Given the description of an element on the screen output the (x, y) to click on. 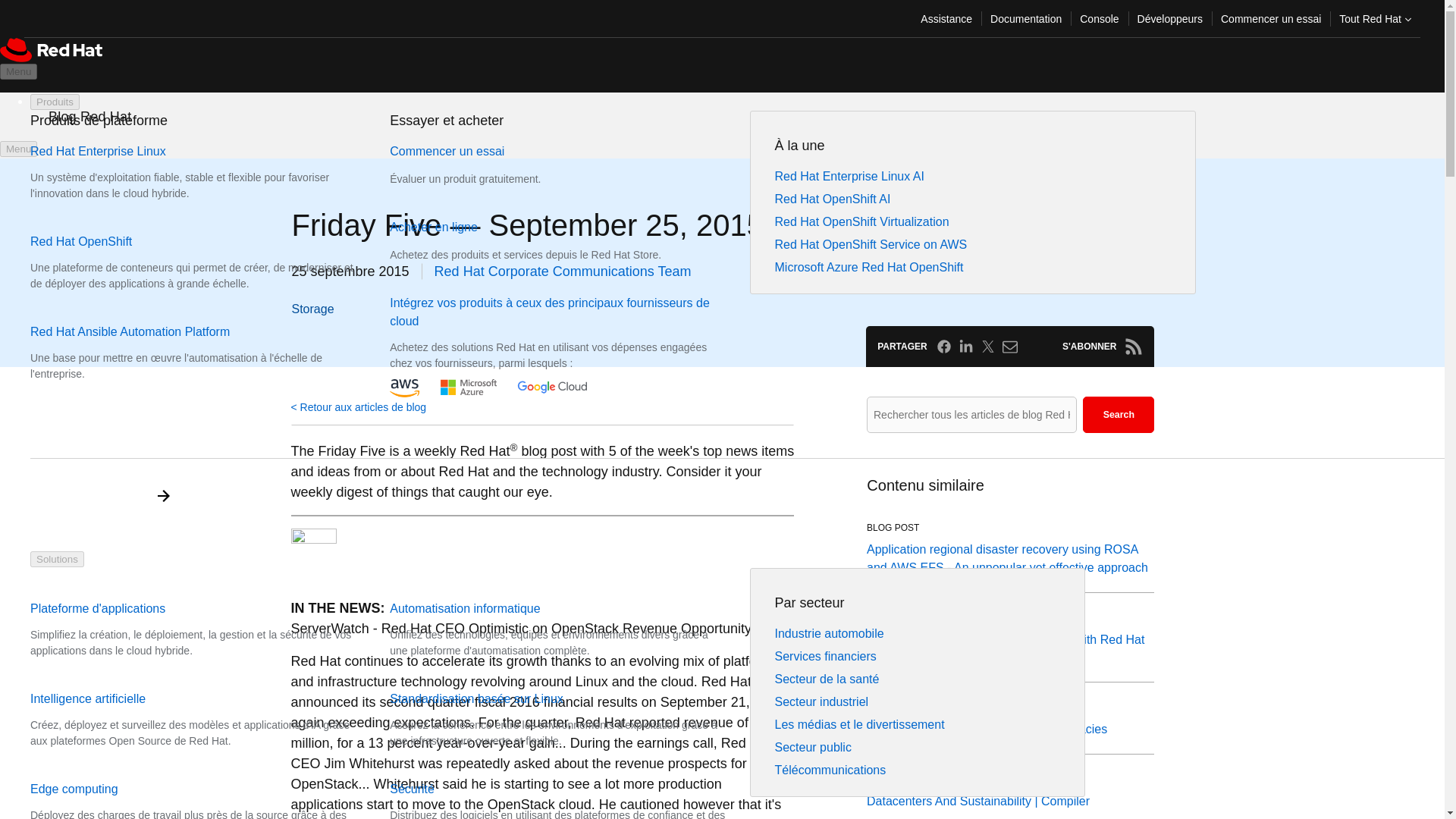
S'abonner (1132, 346)
Console (1098, 18)
See more by Red Hat Corporate Communications Team (562, 271)
Tout Red Hat (1375, 18)
Assistance (946, 18)
Commencer un essai (1270, 18)
Documentation (1025, 18)
